Given the description of an element on the screen output the (x, y) to click on. 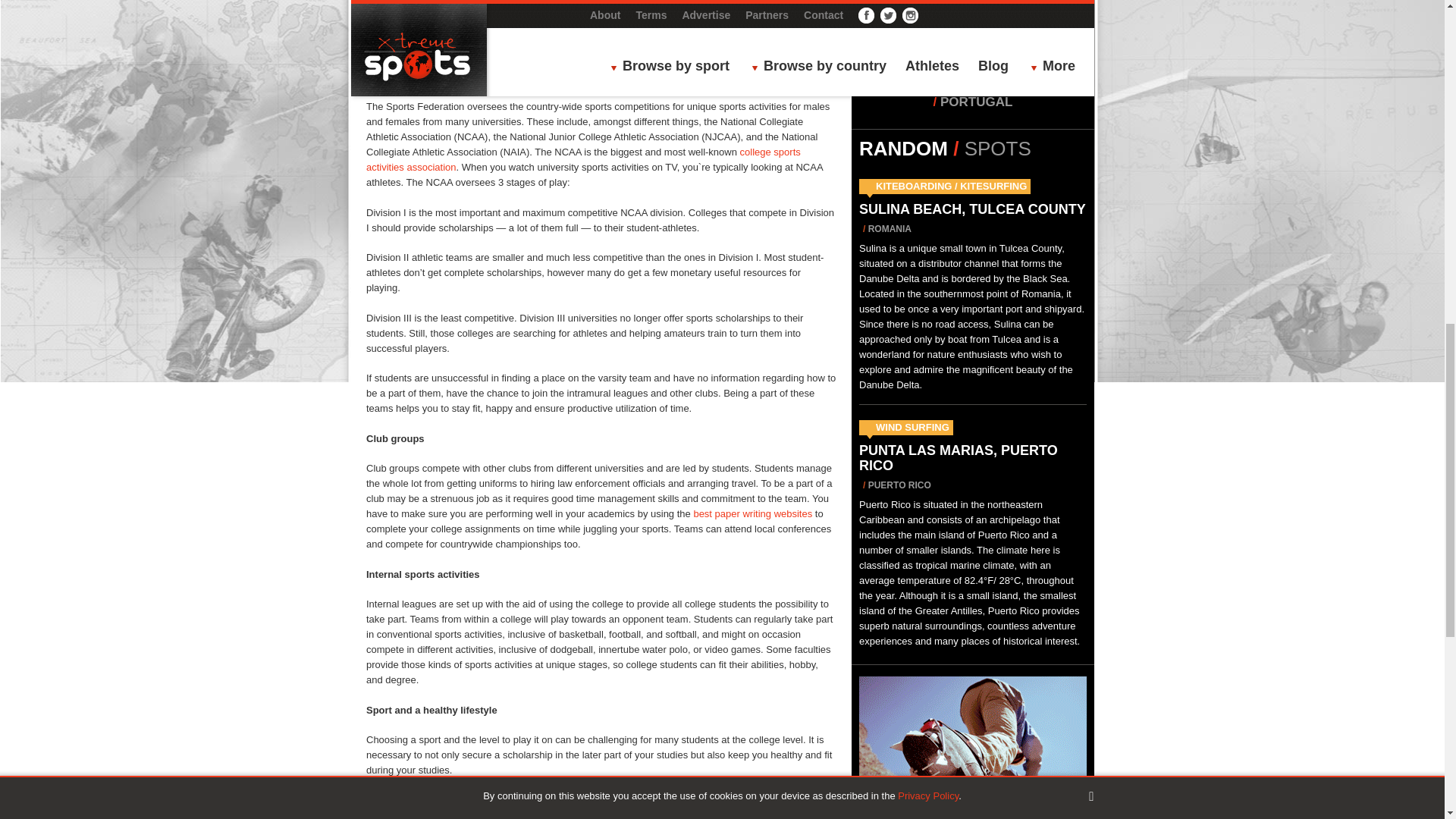
places for extreme sports (615, 30)
best paper writing websites (751, 513)
View all spots in Wind Surfing (912, 427)
college sports activities association (583, 159)
View this spot (958, 458)
View this spot (972, 209)
